Given the description of an element on the screen output the (x, y) to click on. 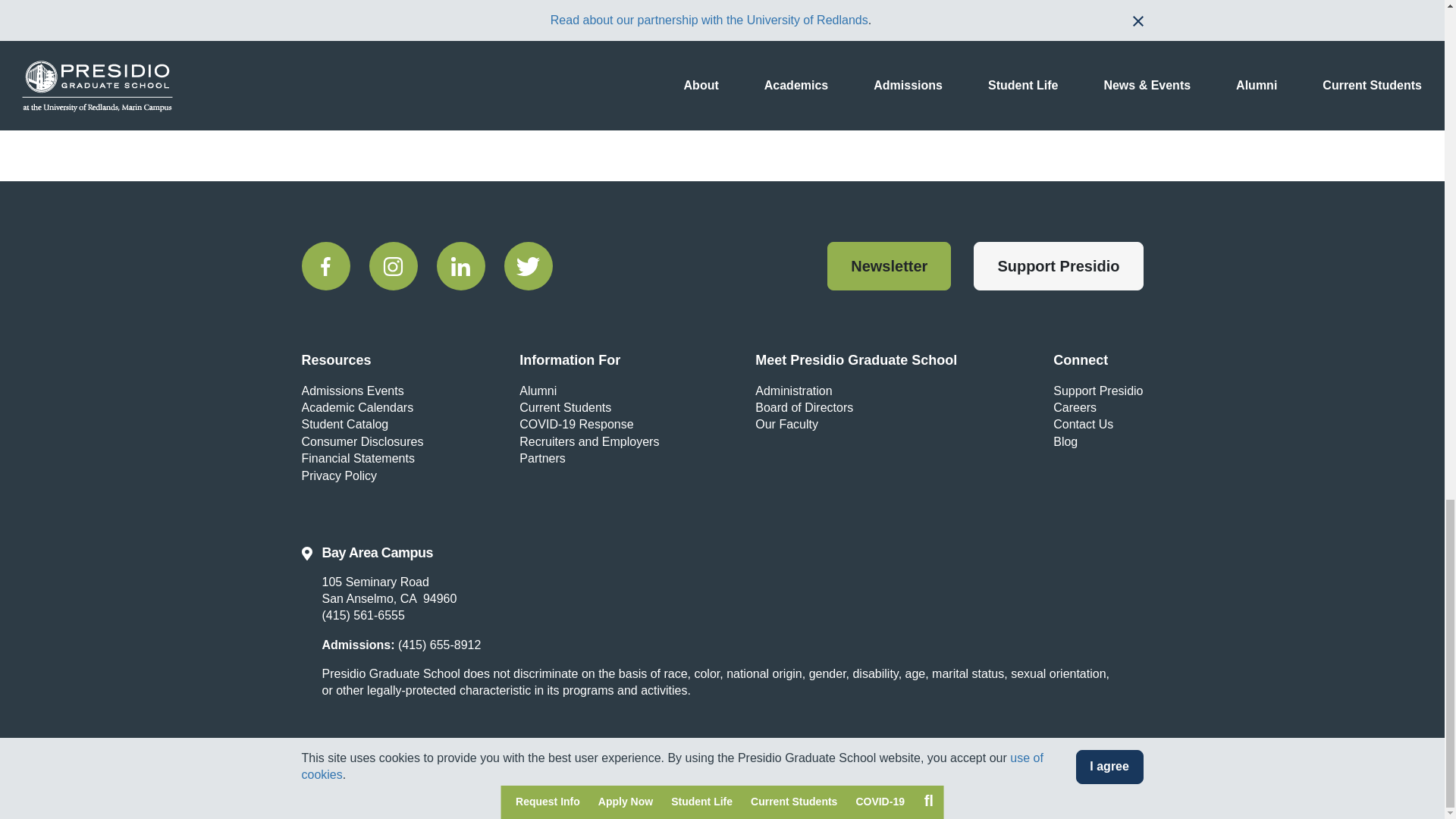
Follow us on Twitter (527, 265)
Follow us on LinkedIn (460, 265)
Like us on Facebook (325, 265)
Support Presidio (1058, 265)
Newsletter (888, 265)
Accessibility Statement (564, 791)
Follow us on Instagram (392, 265)
